Given the description of an element on the screen output the (x, y) to click on. 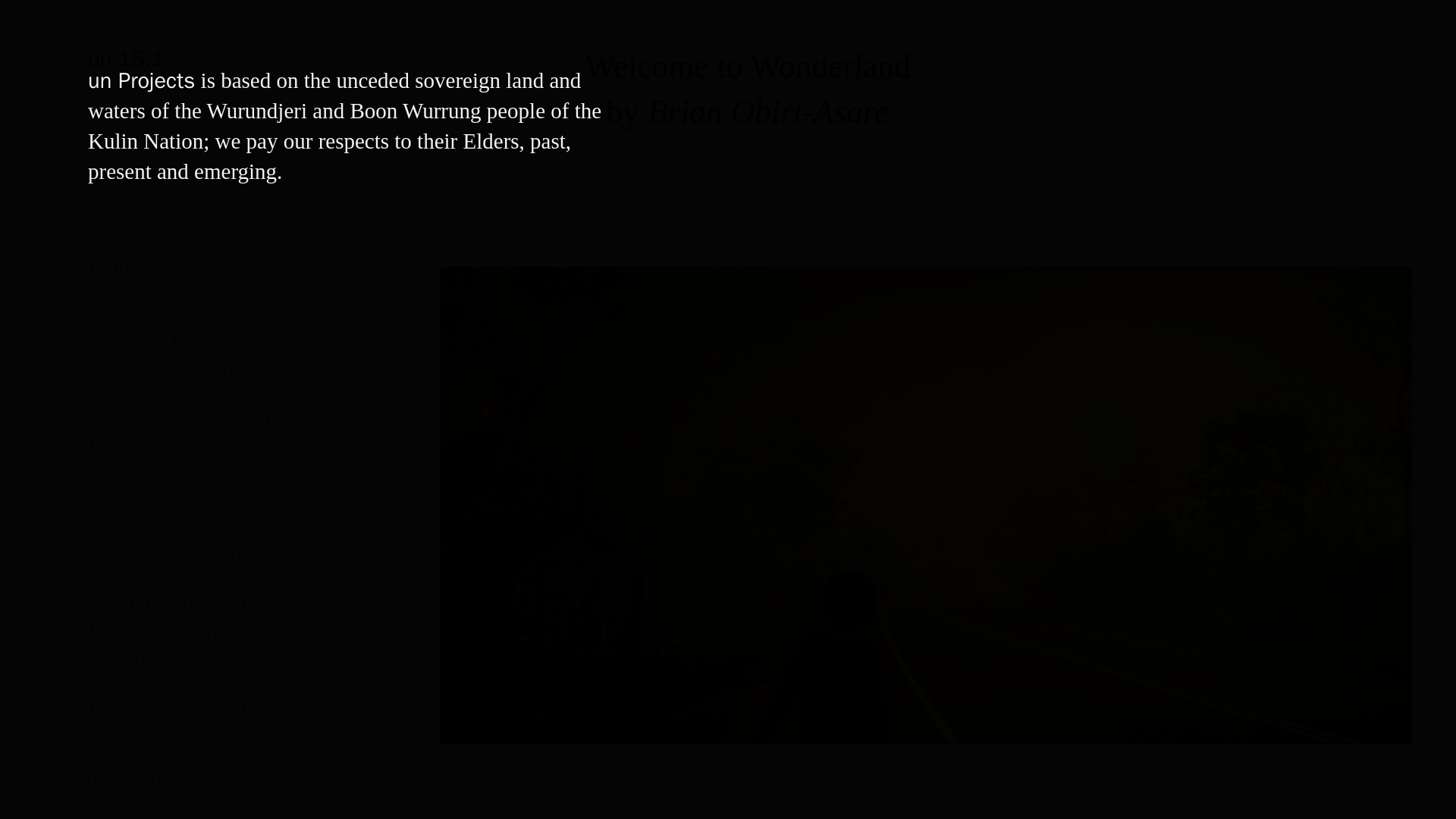
Posts by Brian Obiri-Asare (197, 366)
Brian Obiri-Asare (768, 111)
